Given the description of an element on the screen output the (x, y) to click on. 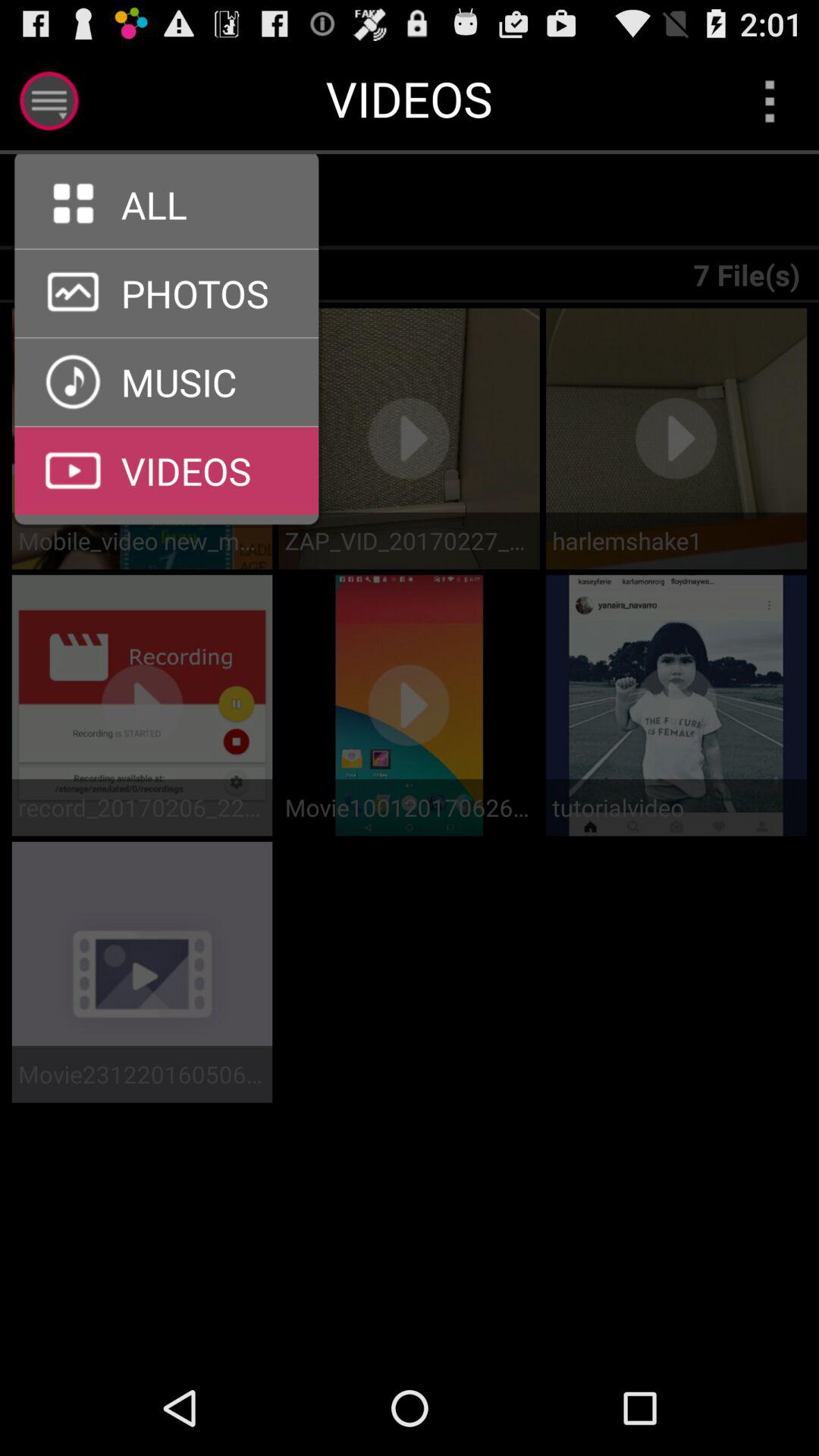
jump until harlemshake1 icon (676, 540)
